Given the description of an element on the screen output the (x, y) to click on. 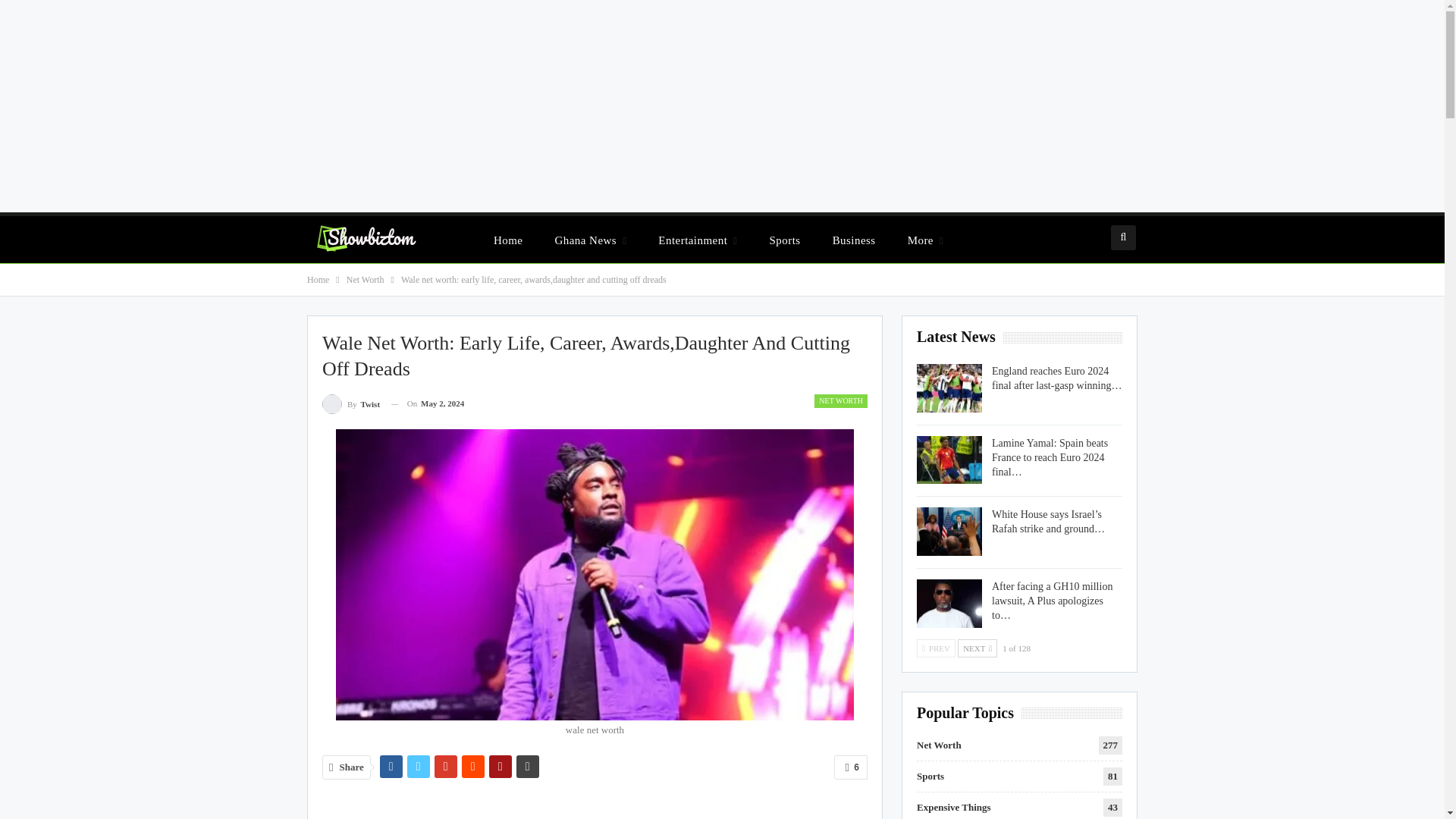
Ghana News (590, 239)
Browse Author Articles (350, 403)
Sports (784, 239)
Home (318, 279)
Business (854, 239)
More (925, 239)
NET WORTH (840, 400)
Advertisement (594, 806)
Entertainment (697, 239)
Home (508, 239)
Net Worth (365, 279)
By Twist (350, 403)
